Given the description of an element on the screen output the (x, y) to click on. 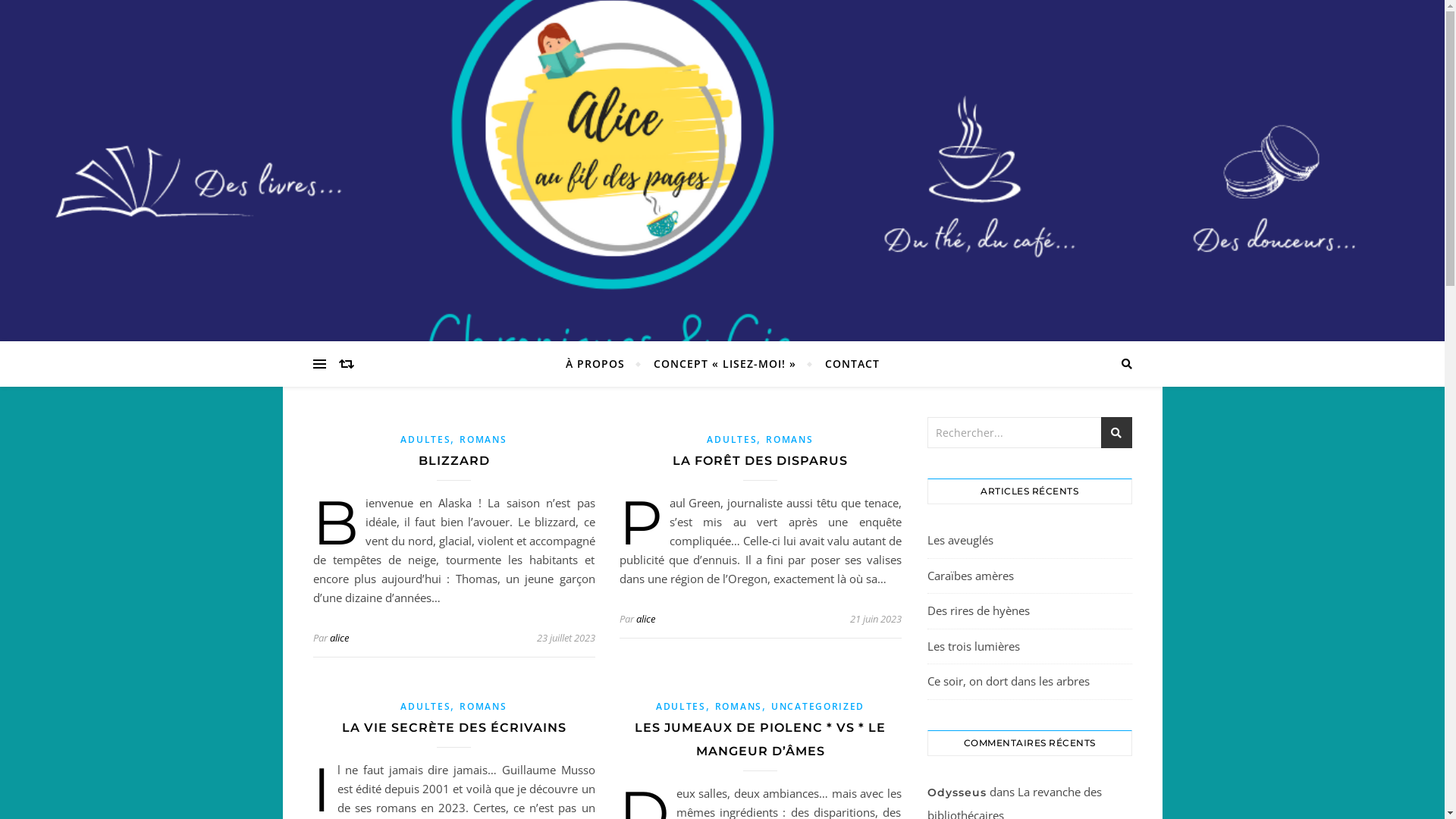
ADULTES Element type: text (731, 439)
ADULTES Element type: text (425, 439)
alice Element type: text (338, 637)
BLIZZARD Element type: text (453, 460)
alice Element type: text (644, 618)
UNCATEGORIZED Element type: text (817, 705)
Ce soir, on dort dans les arbres Element type: text (1007, 680)
ROMANS Element type: text (738, 705)
st Element type: text (1116, 432)
ROMANS Element type: text (788, 439)
ADULTES Element type: text (425, 705)
ROMANS Element type: text (482, 439)
ADULTES Element type: text (680, 705)
ROMANS Element type: text (482, 705)
CONTACT Element type: text (844, 363)
